Given the description of an element on the screen output the (x, y) to click on. 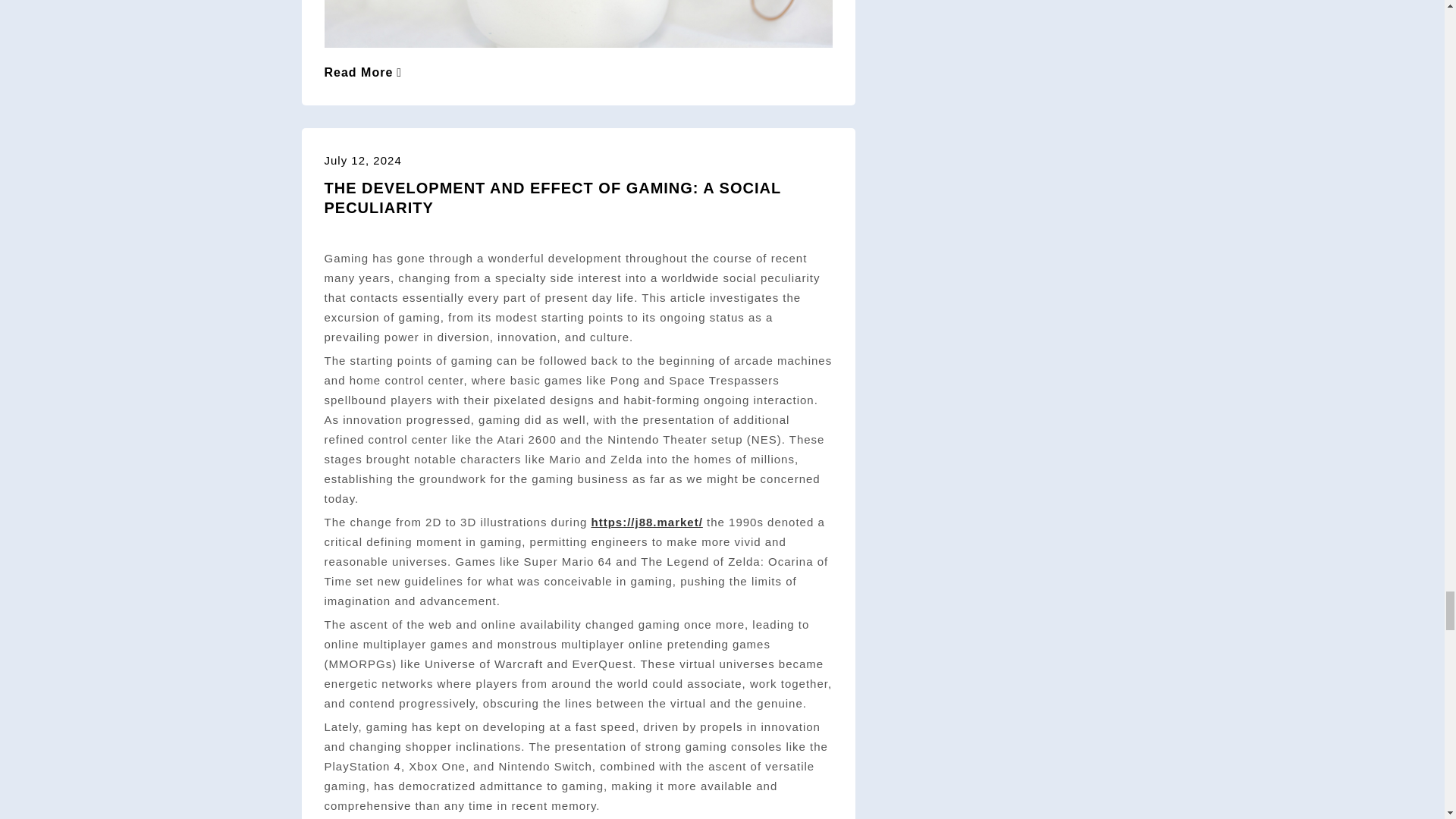
Read More (363, 72)
July 12, 2024 (362, 160)
THE DEVELOPMENT AND EFFECT OF GAMING: A SOCIAL PECULIARITY (552, 197)
